Given the description of an element on the screen output the (x, y) to click on. 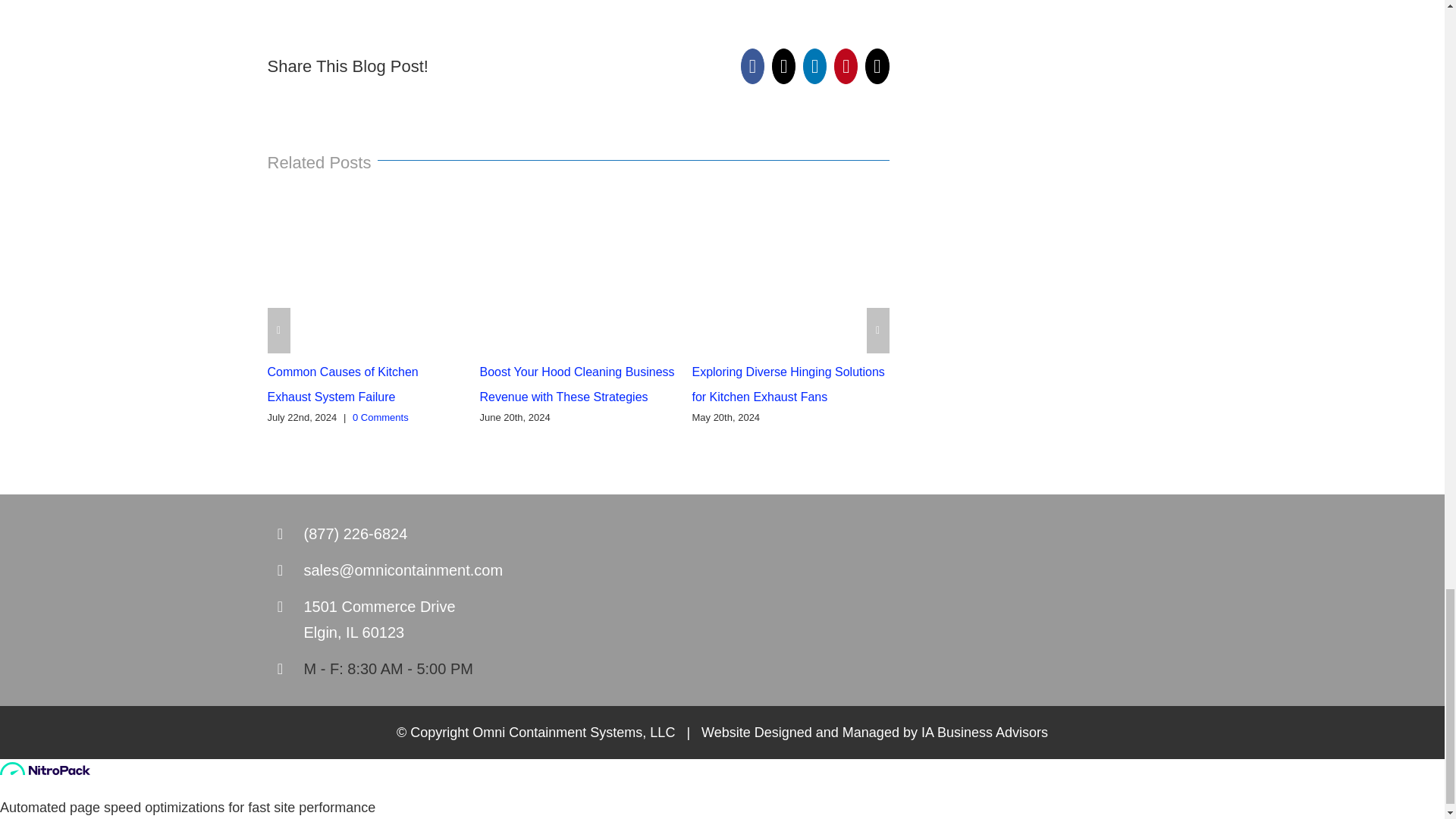
Exploring Diverse Hinging Solutions for Kitchen Exhaust Fans (787, 384)
Common Causes of Kitchen Exhaust System Failure (341, 384)
0 Comments (380, 417)
Exploring Diverse Hinging Solutions for Kitchen Exhaust Fans (787, 384)
Common Causes of Kitchen Exhaust System Failure (341, 384)
